Given the description of an element on the screen output the (x, y) to click on. 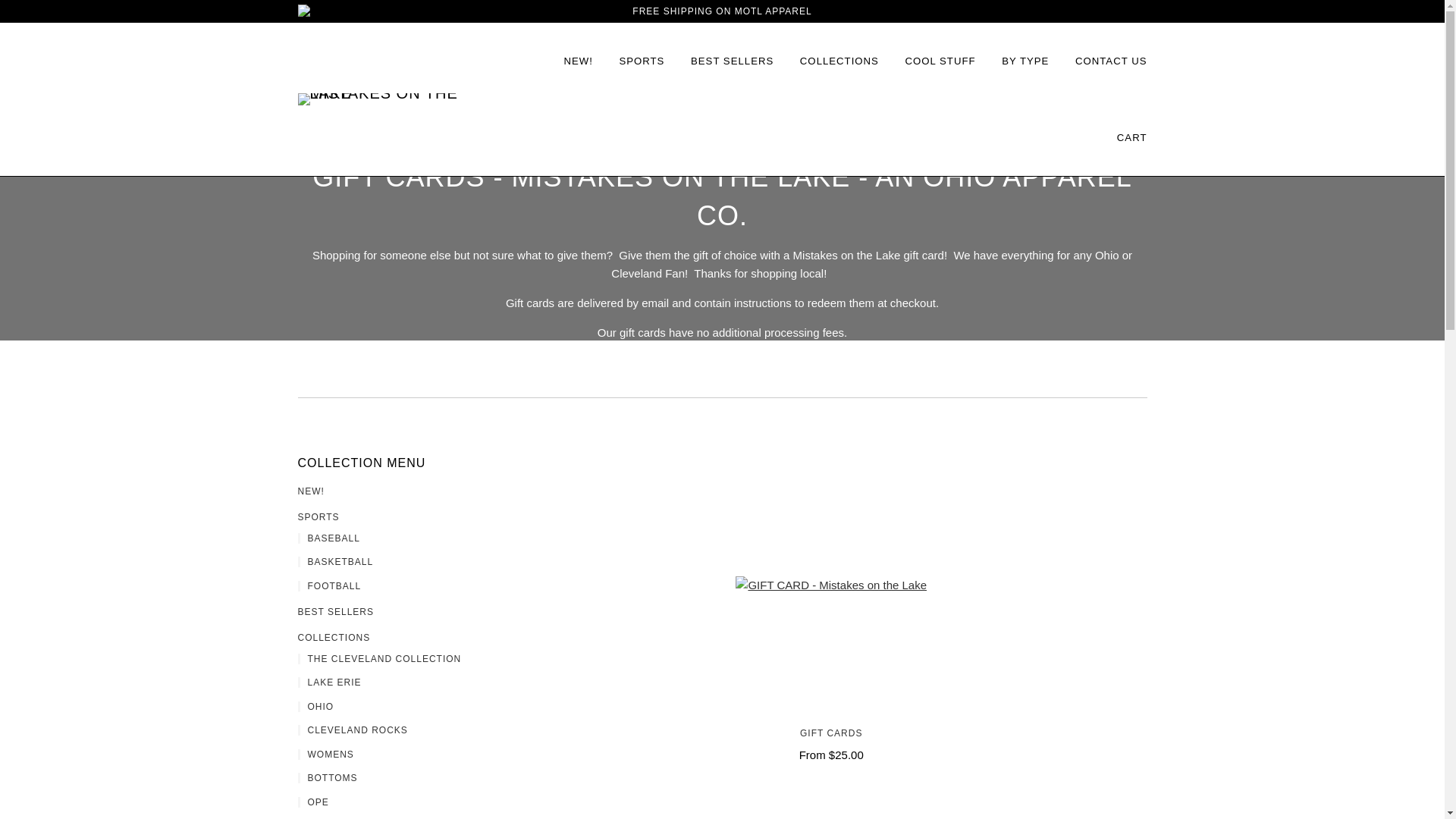
FREE SHIPPING ON MOTL APPAREL (720, 10)
COLLECTIONS (839, 60)
BEST SELLERS (731, 60)
